Given the description of an element on the screen output the (x, y) to click on. 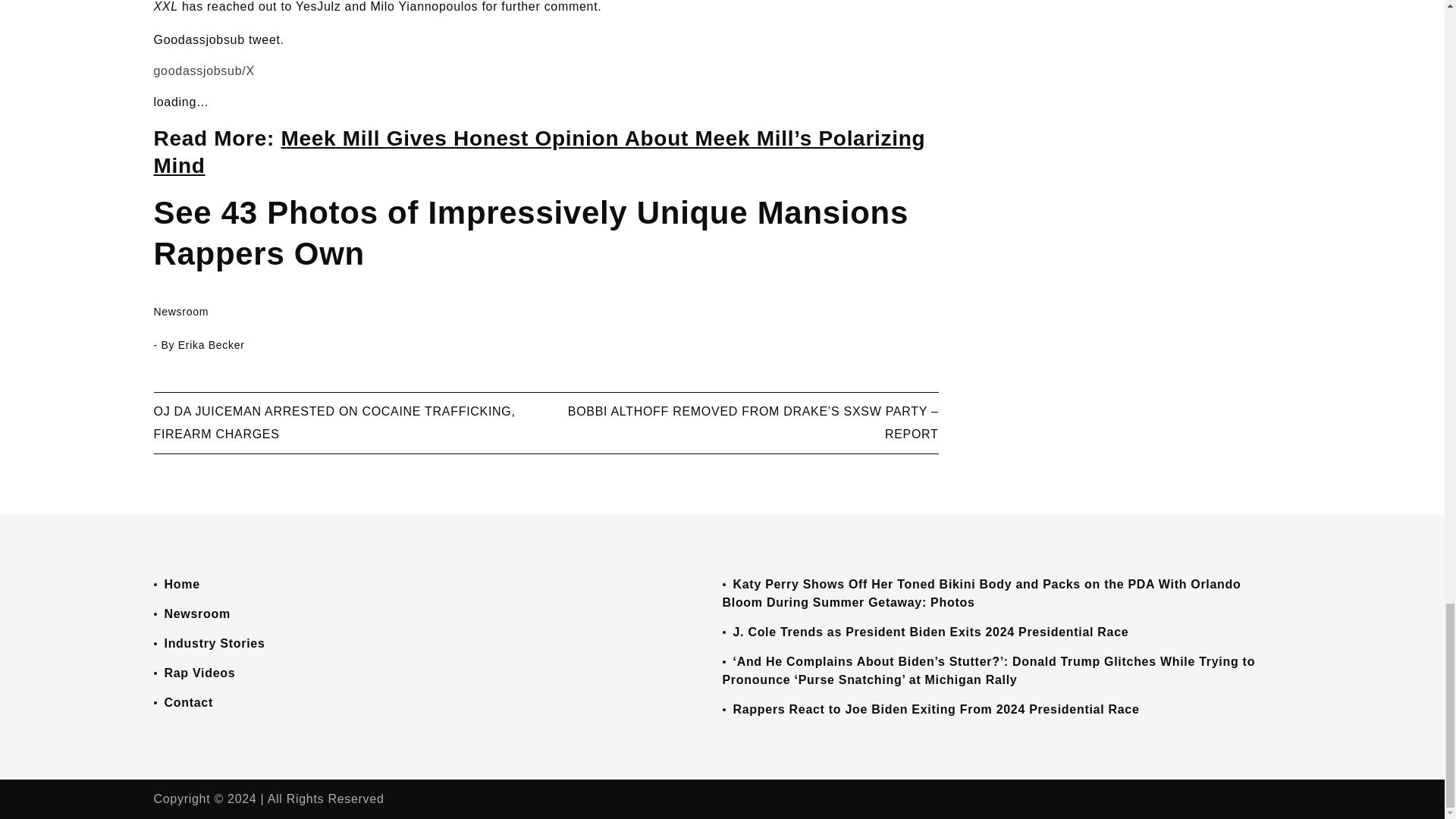
Industry Stories (213, 643)
Home (181, 584)
Erika Becker (210, 345)
Newsroom (180, 311)
Rap Videos (198, 672)
Contact (187, 702)
Newsroom (196, 613)
